Given the description of an element on the screen output the (x, y) to click on. 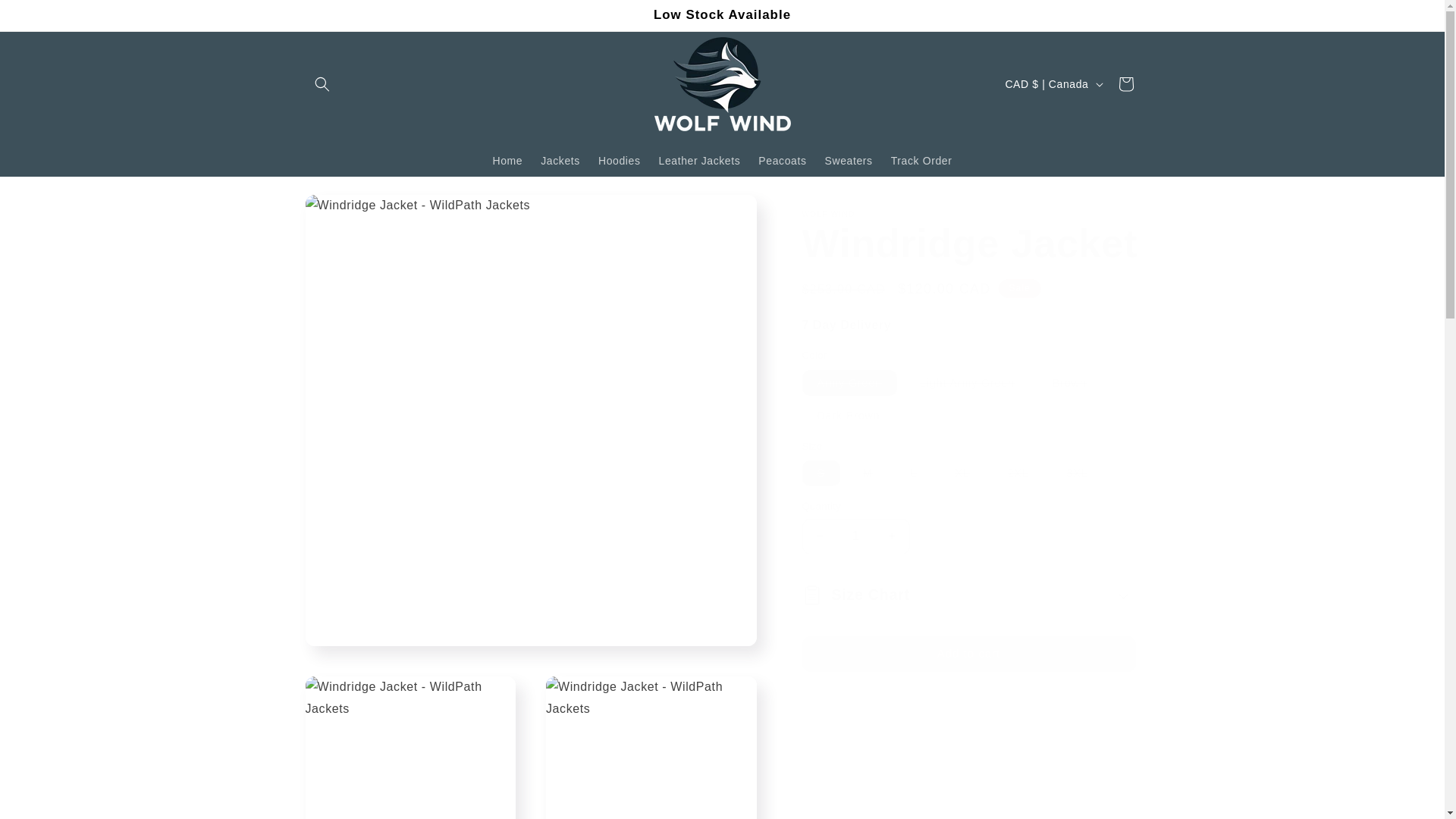
Skip to content (45, 17)
Cart (1124, 83)
Track Order (921, 160)
Open media 2 in modal (409, 747)
Sweaters (848, 160)
Open media 3 in modal (651, 747)
1 (856, 536)
